Given the description of an element on the screen output the (x, y) to click on. 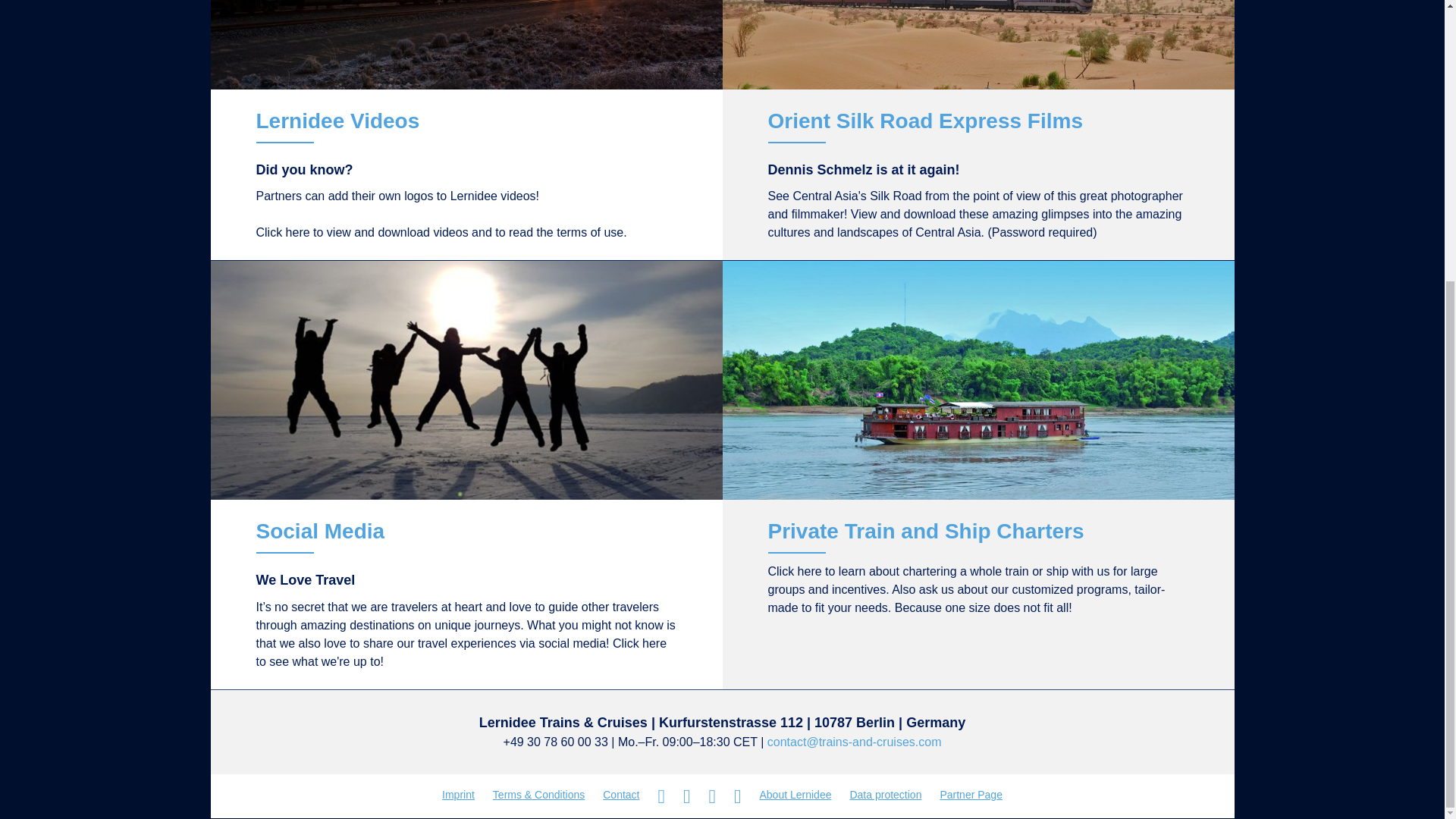
Data protection (885, 794)
About Lernidee (796, 794)
Contact (620, 794)
Contact (620, 794)
Imprint (457, 794)
Imprint (457, 794)
Data protection (885, 794)
Partner Page (970, 794)
About Lernidee (796, 794)
Partner Page (970, 794)
